Given the description of an element on the screen output the (x, y) to click on. 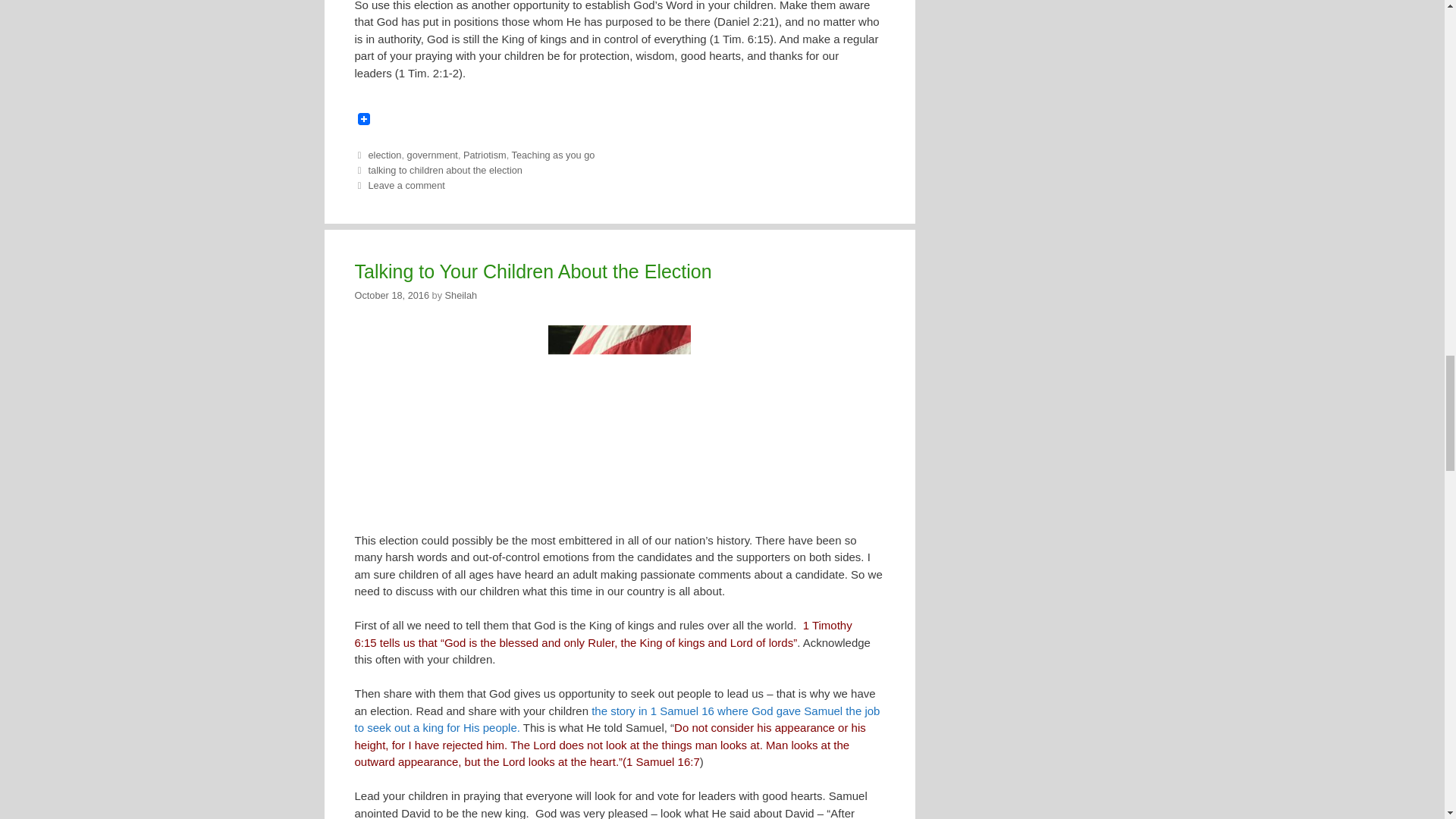
Patriotism (484, 154)
election (384, 154)
View all posts by Sheilah (461, 295)
11:04 am (392, 295)
government (432, 154)
